Given the description of an element on the screen output the (x, y) to click on. 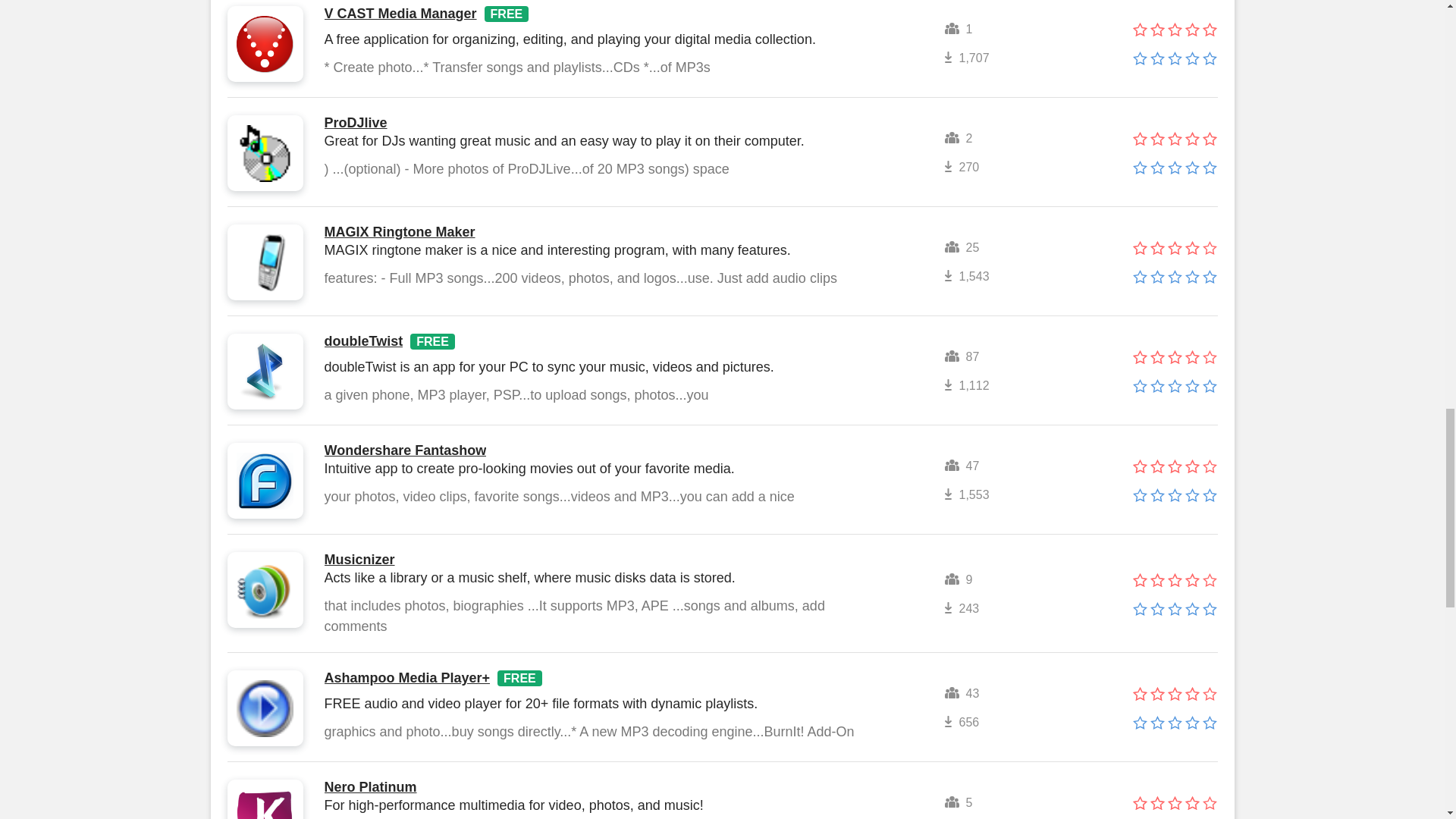
V CAST Media Manager (400, 13)
doubleTwist (363, 341)
ProDJlive (355, 123)
MAGIX Ringtone Maker (400, 232)
V CAST Media Manager (400, 13)
